Given the description of an element on the screen output the (x, y) to click on. 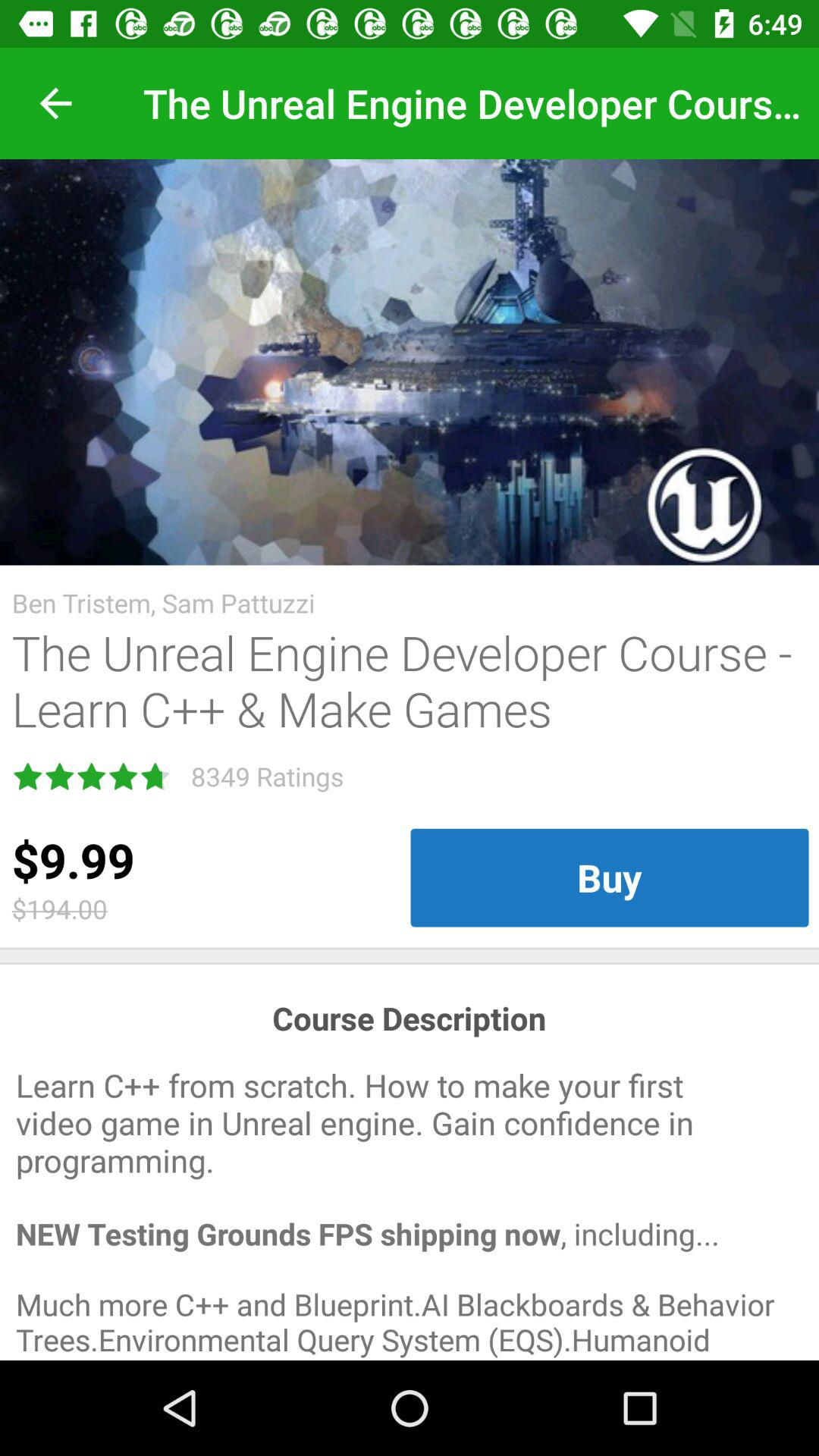
press item at the top left corner (55, 103)
